Given the description of an element on the screen output the (x, y) to click on. 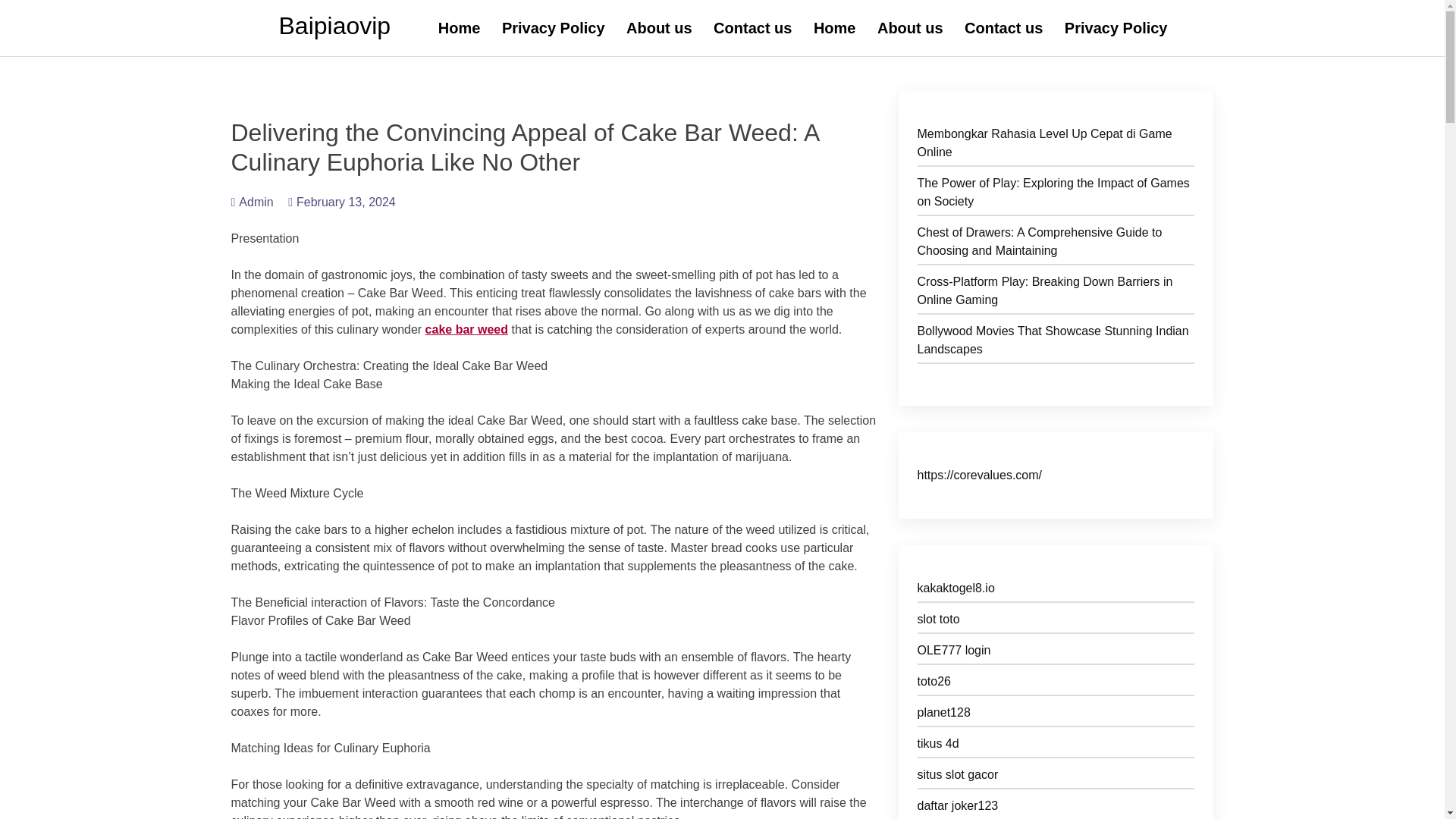
Contact us (752, 28)
Cross-Platform Play: Breaking Down Barriers in Online Gaming (1056, 293)
Admin (251, 201)
Membongkar Rahasia Level Up Cepat di Game Online (1056, 146)
Privacy Policy (1115, 28)
tikus 4d (1056, 746)
Privacy Policy (553, 28)
slot toto (1056, 621)
Contact us (1003, 28)
OLE777 login (1056, 653)
kakaktogel8.io (1056, 590)
Home (459, 28)
February 13, 2024 (342, 201)
Baipiaovip (335, 25)
